Given the description of an element on the screen output the (x, y) to click on. 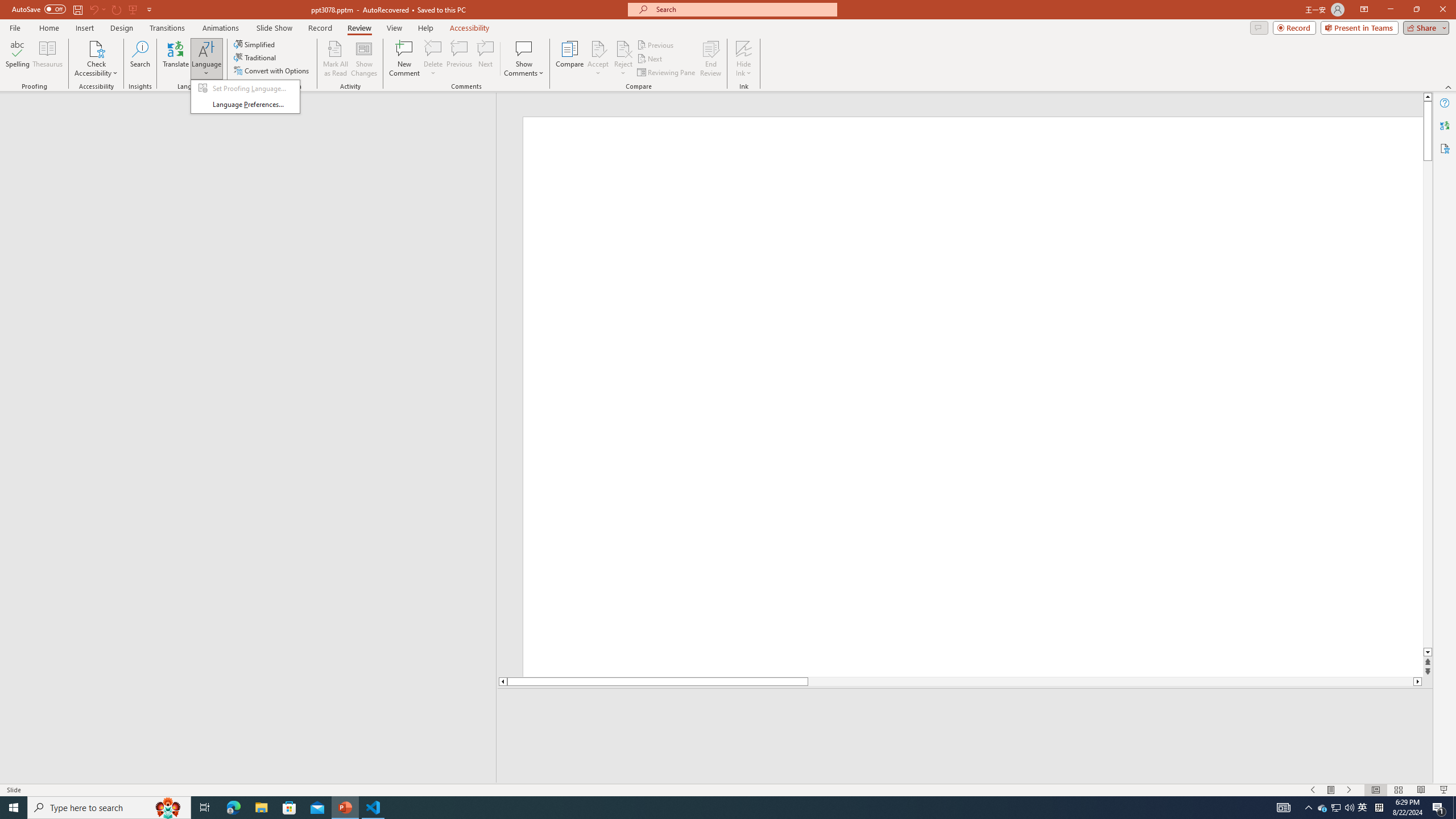
Hide Ink (743, 48)
Thesaurus... (47, 58)
Type here to search (108, 807)
Running applications (1322, 807)
Check Accessibility (700, 807)
Menu On (95, 48)
Delete (1331, 790)
Accessibility (432, 48)
